Given the description of an element on the screen output the (x, y) to click on. 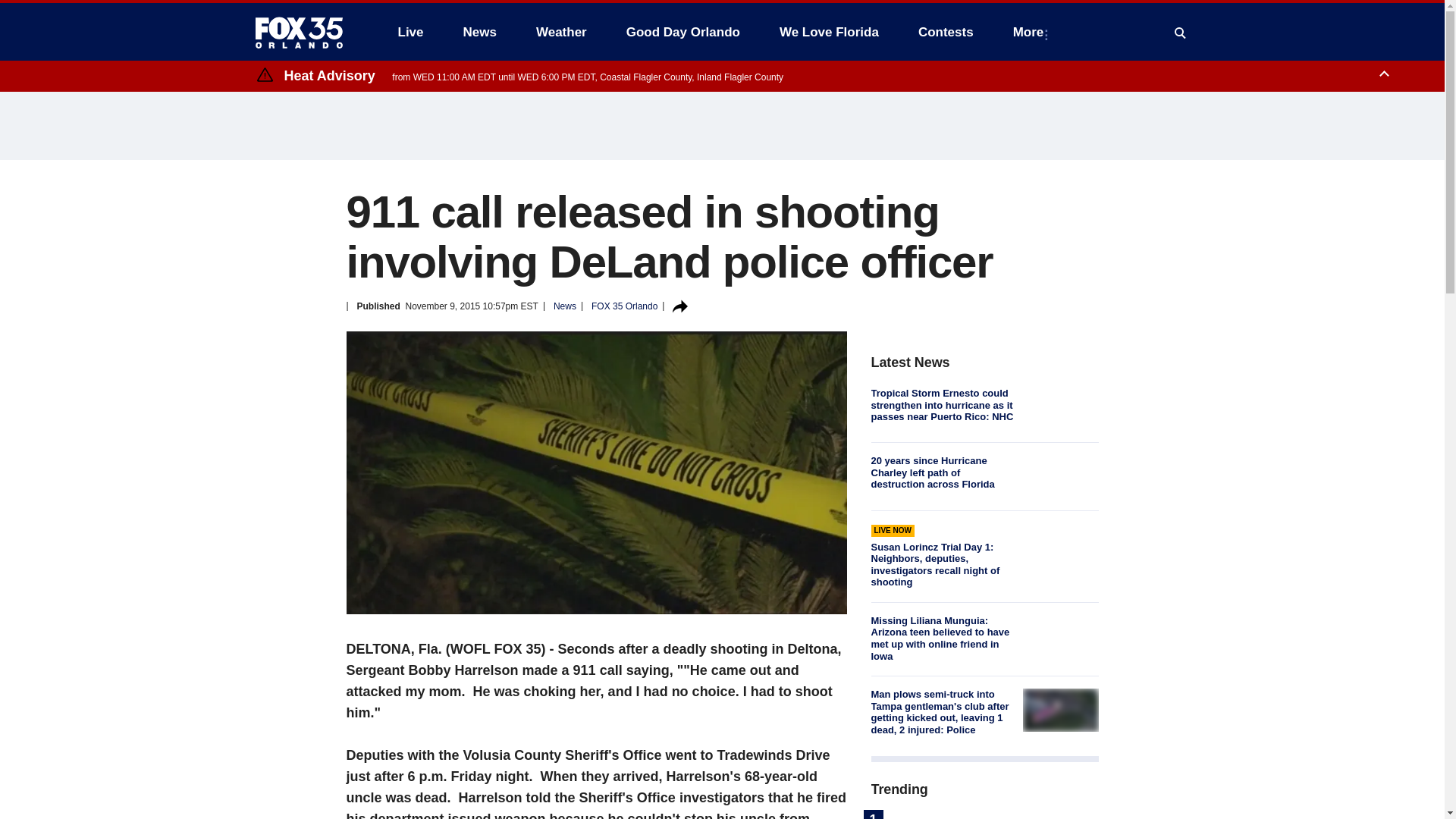
Contests (945, 32)
News (479, 32)
We Love Florida (829, 32)
Live (410, 32)
Weather (561, 32)
More (1031, 32)
Good Day Orlando (683, 32)
